Given the description of an element on the screen output the (x, y) to click on. 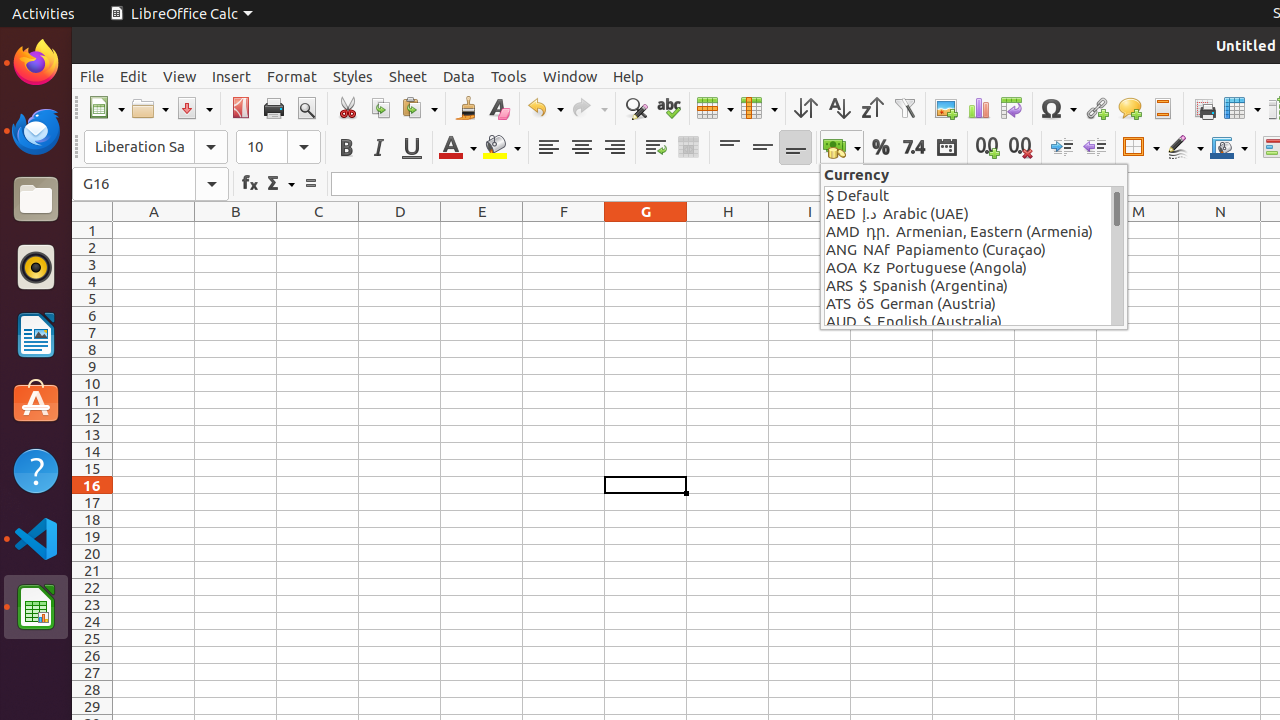
PDF Element type: push-button (240, 108)
File Element type: menu (92, 76)
Styles Element type: menu (353, 76)
‪ARS‬  $  ‪Spanish (Argentina)‬ Element type: list-item (968, 286)
Currency Element type: push-button (842, 147)
